Given the description of an element on the screen output the (x, y) to click on. 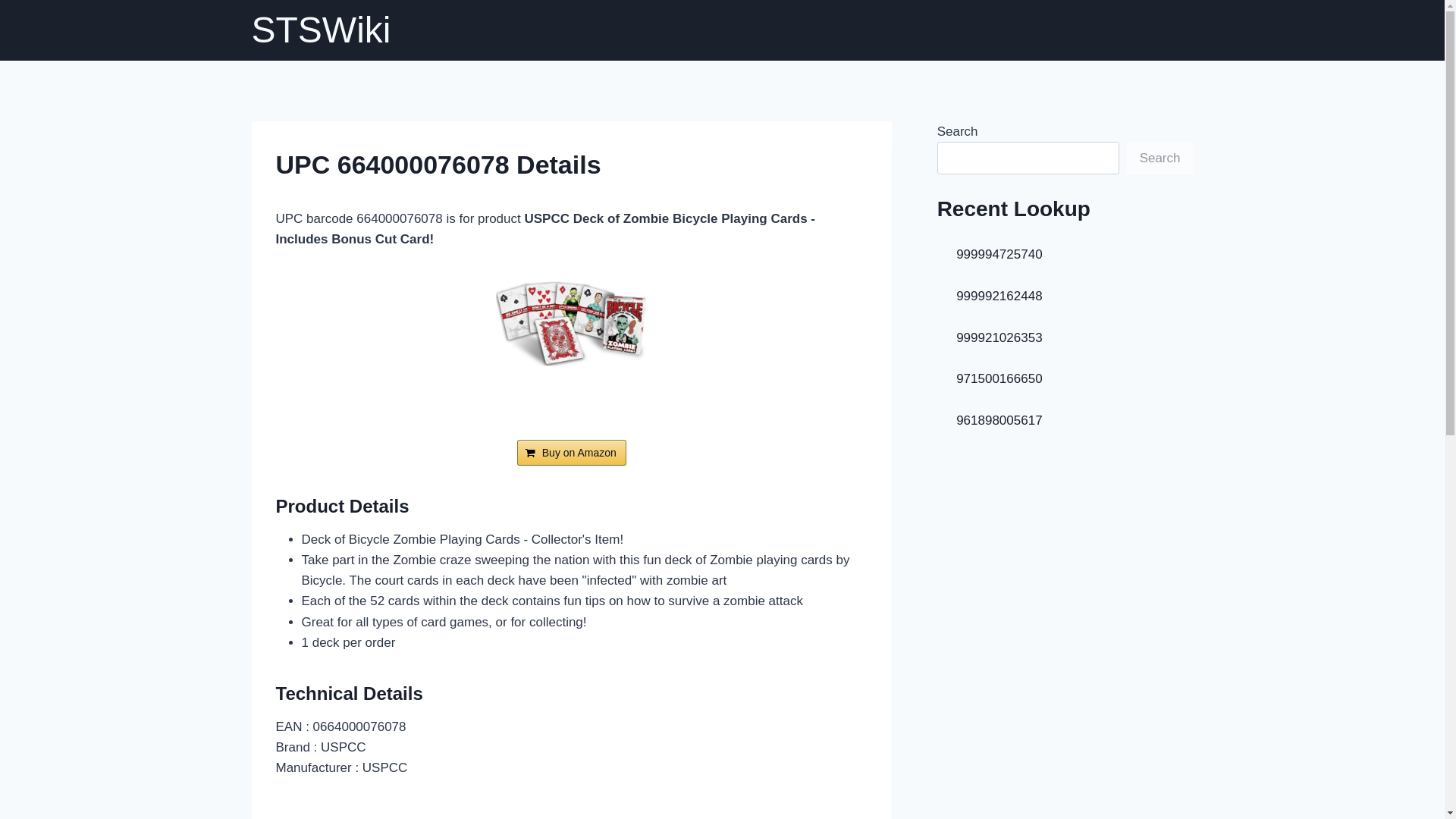
999921026353 (999, 337)
999994725740 (999, 254)
961898005617 (999, 420)
Search (1159, 157)
Buy on Amazon (571, 452)
STSWiki (321, 30)
999992162448 (999, 296)
Buy on Amazon (571, 452)
971500166650 (999, 378)
